Given the description of an element on the screen output the (x, y) to click on. 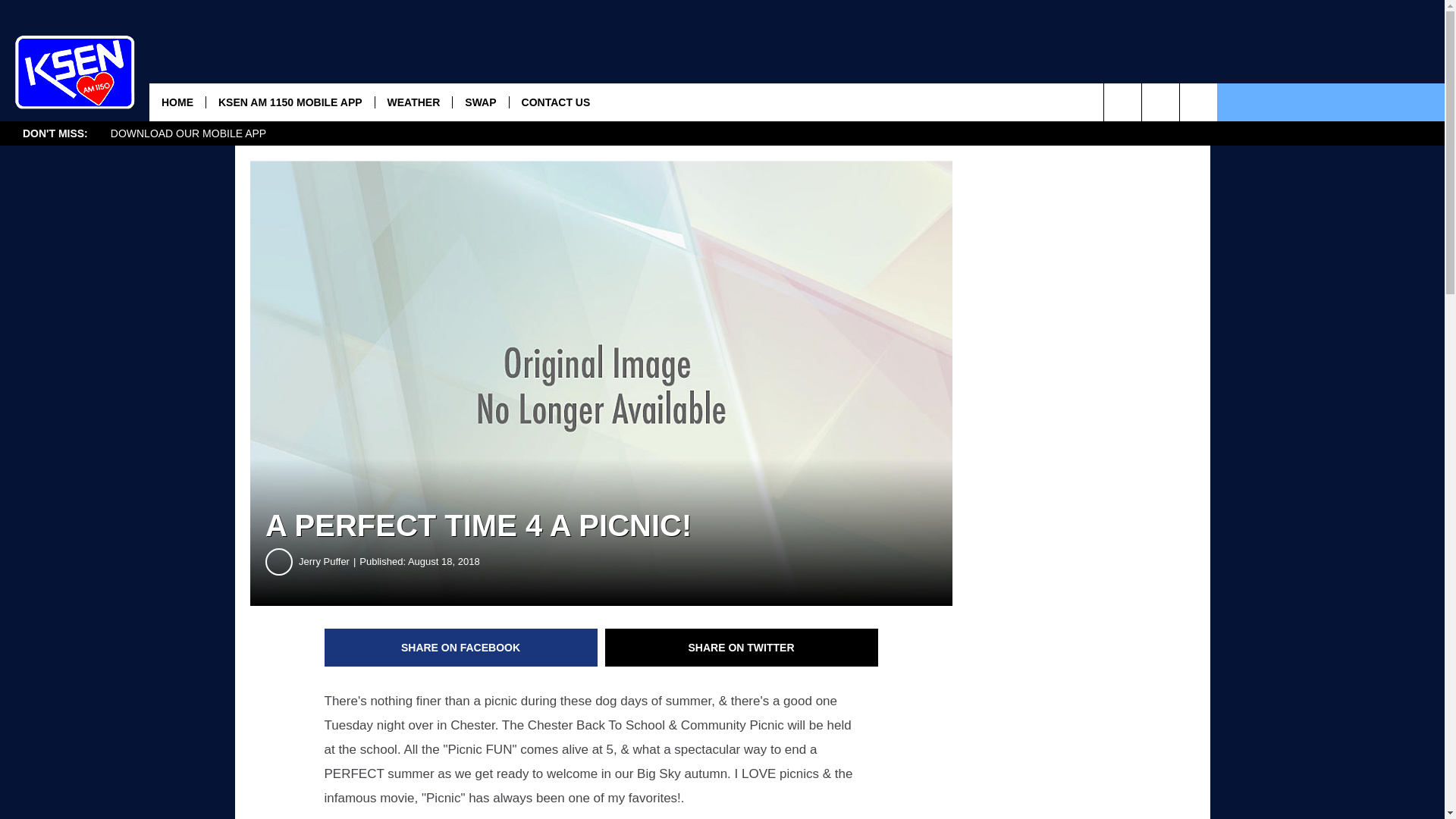
SHARE ON FACEBOOK (460, 647)
Visit us on Twitter (1198, 102)
CONTACT US (555, 102)
DON'T MISS: (55, 133)
SWAP (479, 102)
Jerry Puffer (328, 561)
Visit us on Facebook (1160, 102)
SHARE ON TWITTER (741, 647)
HOME (177, 102)
KSEN AM 1150 MOBILE APP (289, 102)
